Given the description of an element on the screen output the (x, y) to click on. 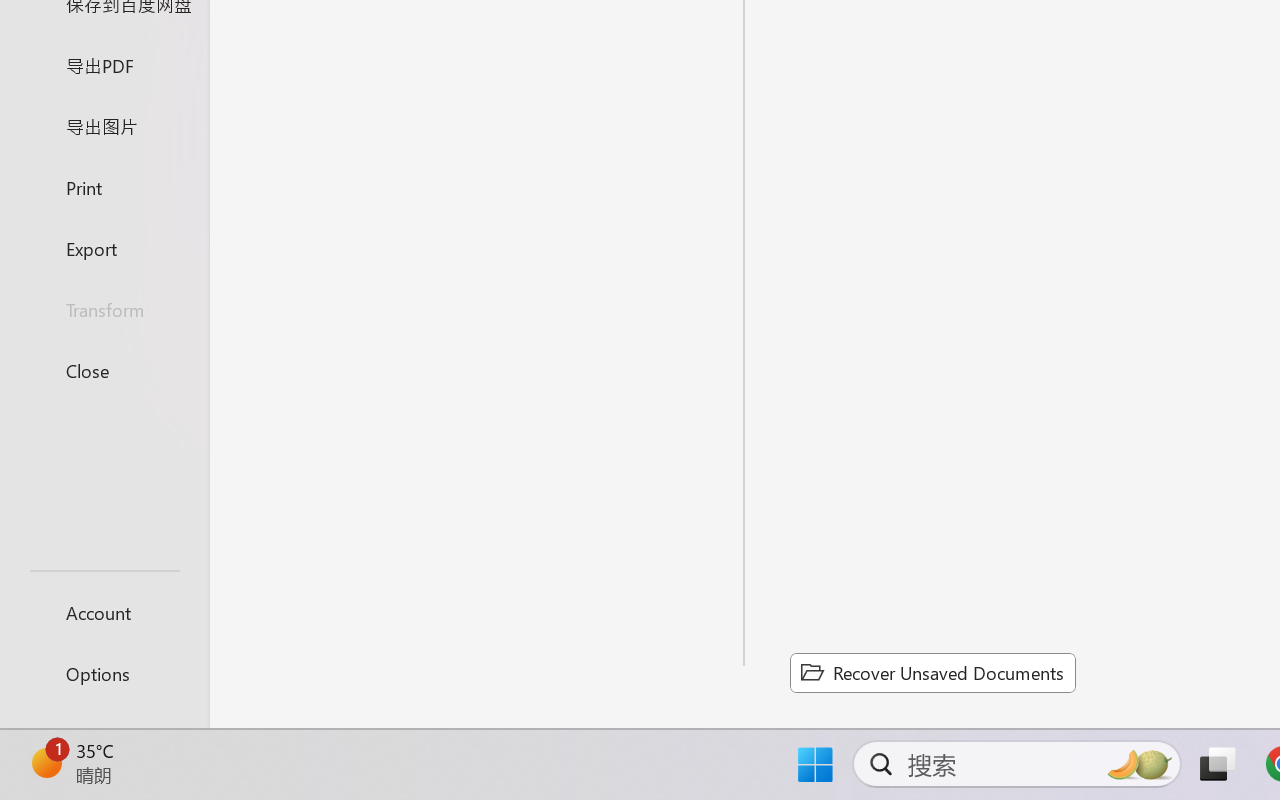
Print (104, 186)
Transform (104, 309)
Account (104, 612)
Recover Unsaved Documents (932, 672)
Export (104, 248)
Options (104, 673)
